Given the description of an element on the screen output the (x, y) to click on. 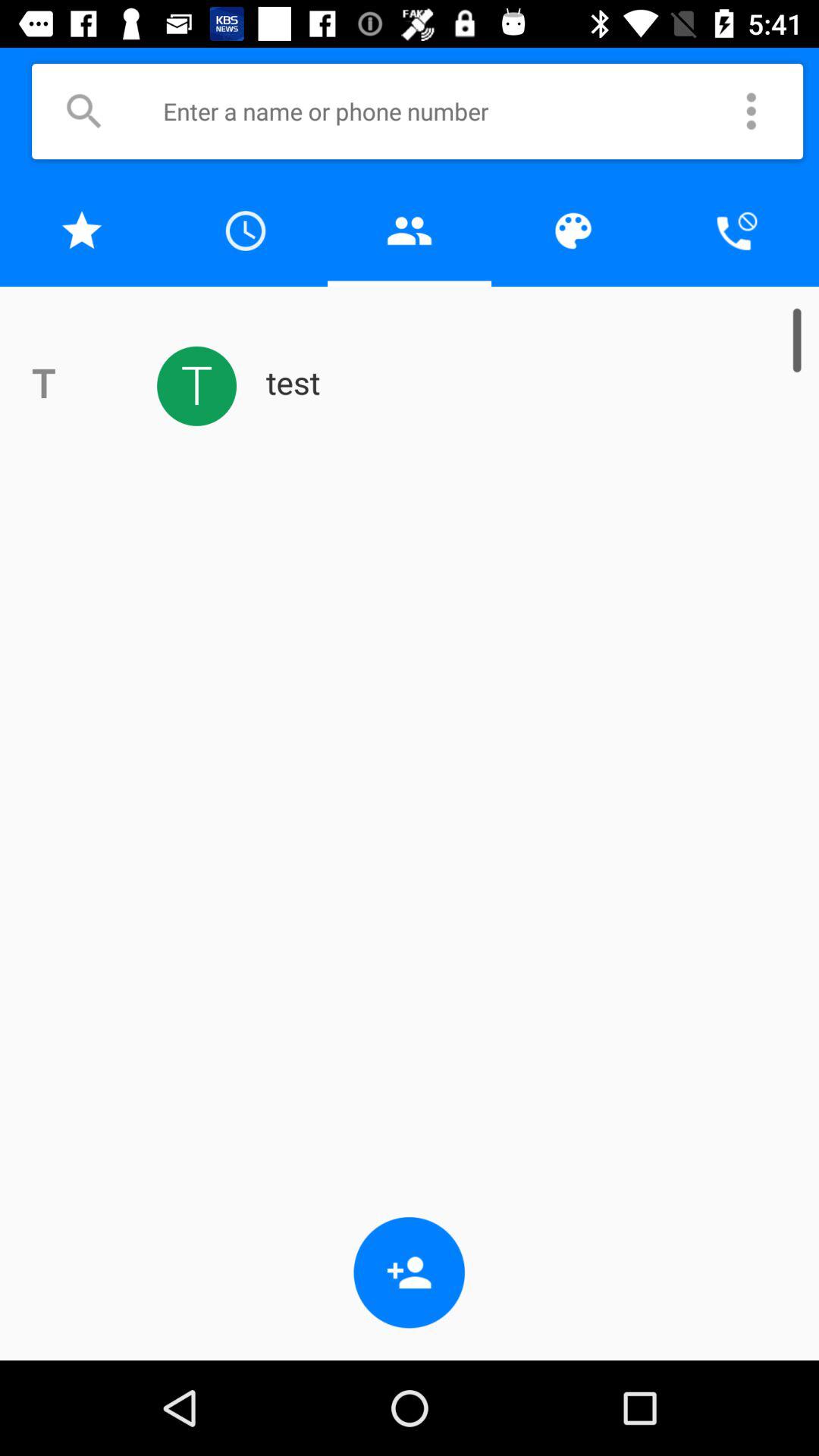
a call history shortcurt (245, 230)
